Given the description of an element on the screen output the (x, y) to click on. 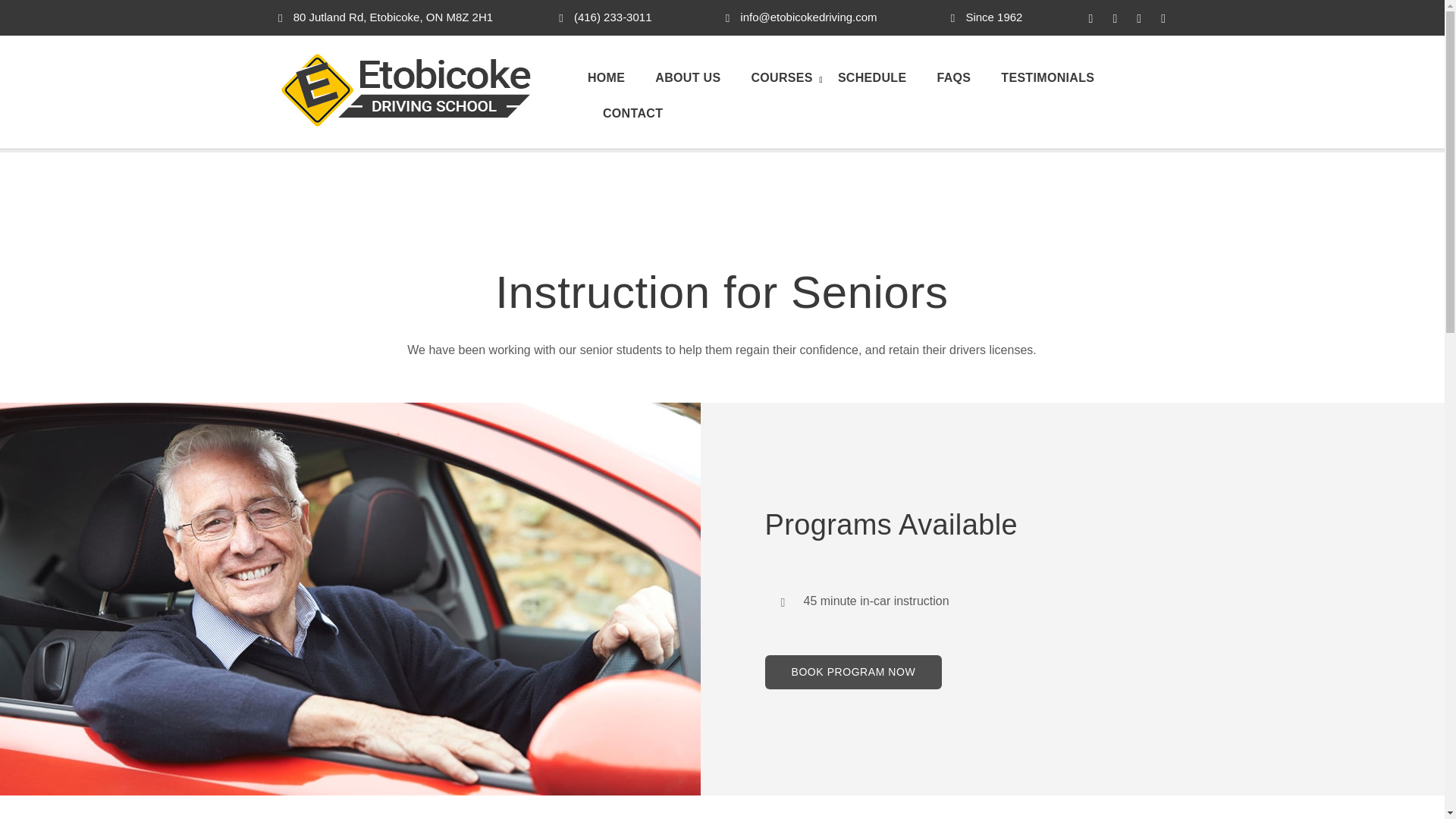
TESTIMONIALS (1047, 78)
FAQS (953, 78)
BOOK PROGRAM NOW (853, 672)
80 Jutland Rd, Etobicoke, ON M8Z 2H1 (385, 16)
HOME (614, 78)
ABOUT US (687, 78)
COURSES (775, 78)
CONTACT (625, 113)
SCHEDULE (871, 78)
